Given the description of an element on the screen output the (x, y) to click on. 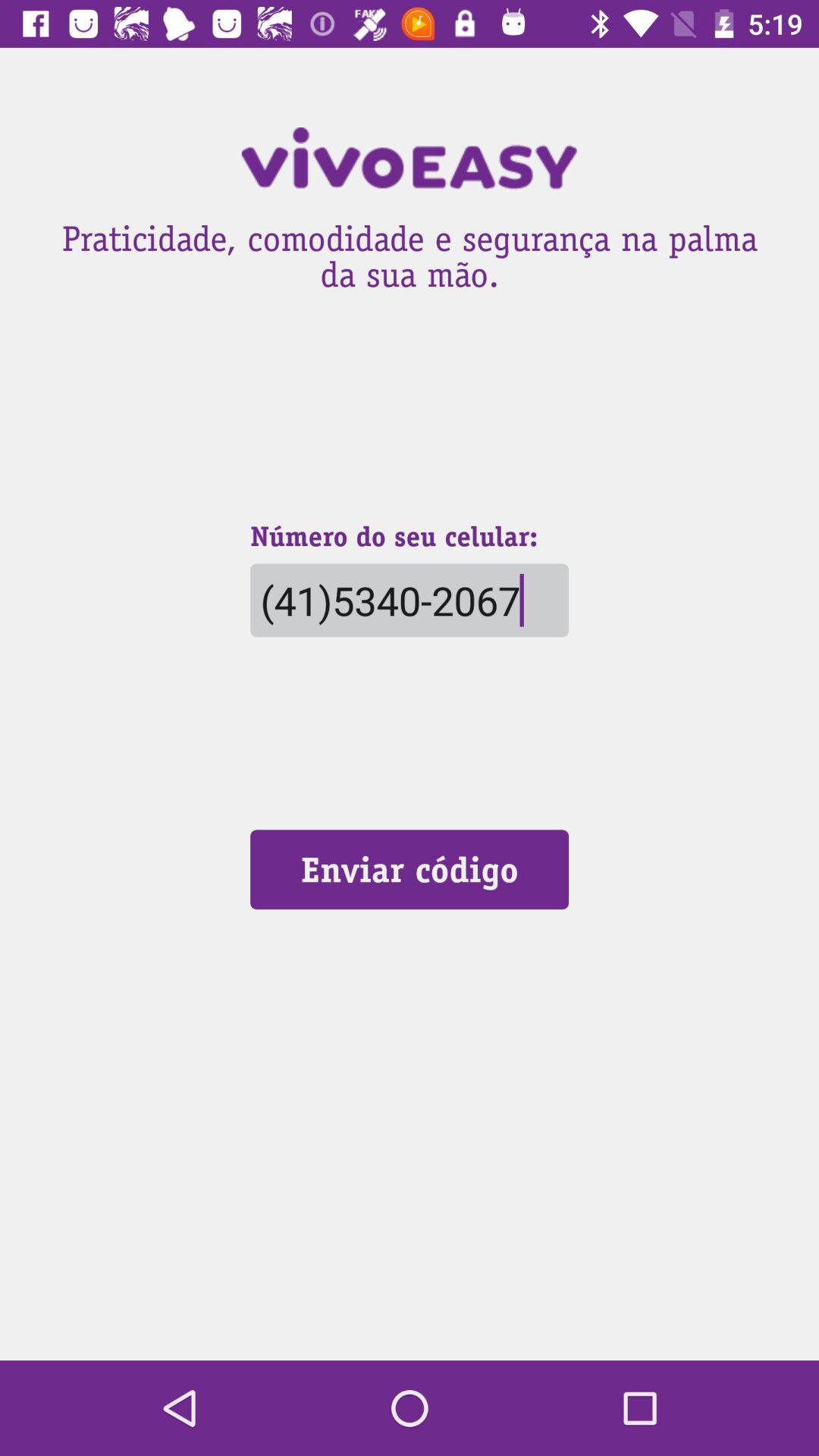
click icon below (41)5340-2067 (409, 869)
